Given the description of an element on the screen output the (x, y) to click on. 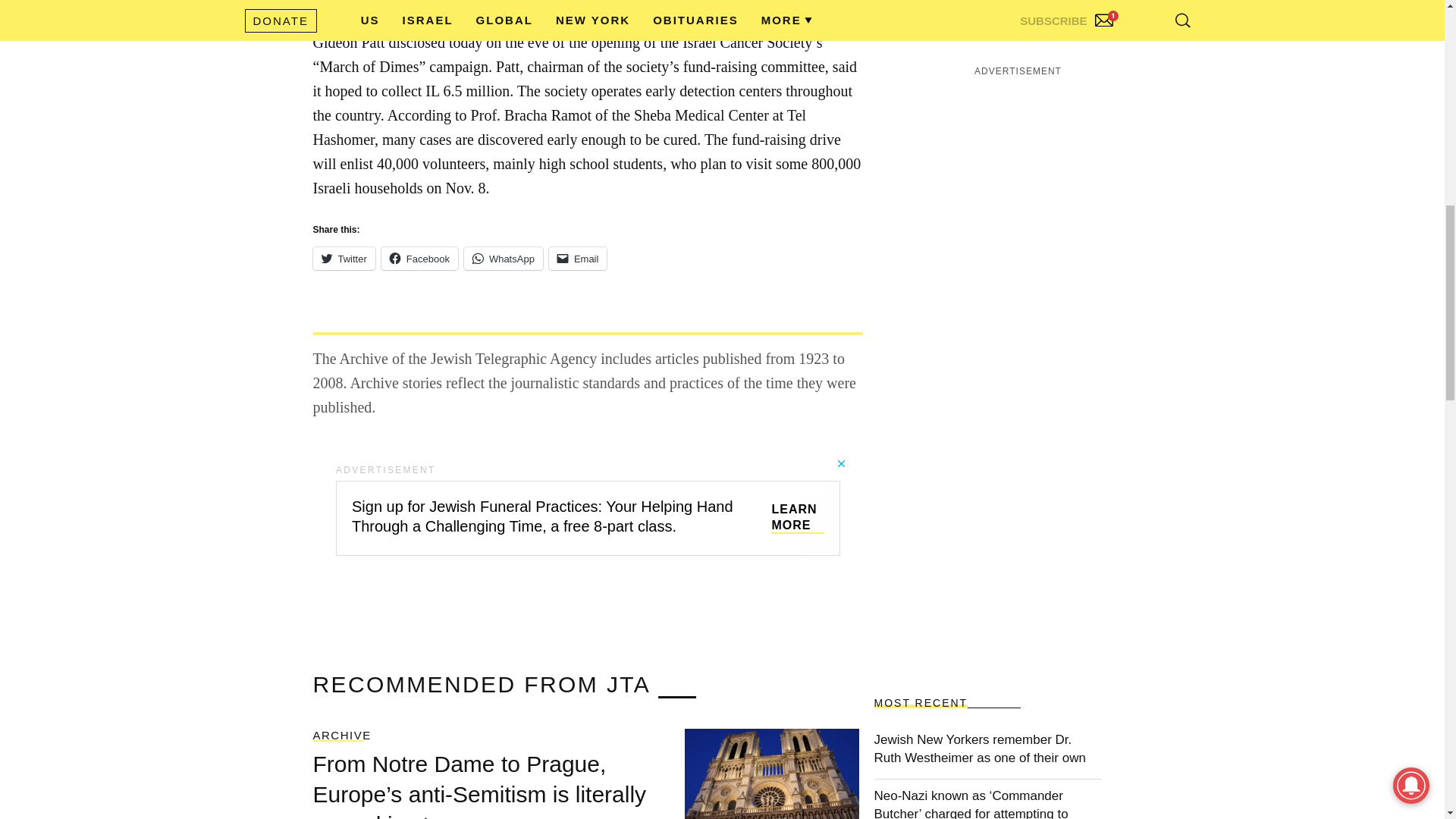
Click to email a link to a friend (577, 258)
3rd party ad content (1017, 115)
Click to share on WhatsApp (503, 258)
Click to share on Twitter (343, 258)
3rd party ad content (587, 510)
Click to share on Facebook (419, 258)
